Given the description of an element on the screen output the (x, y) to click on. 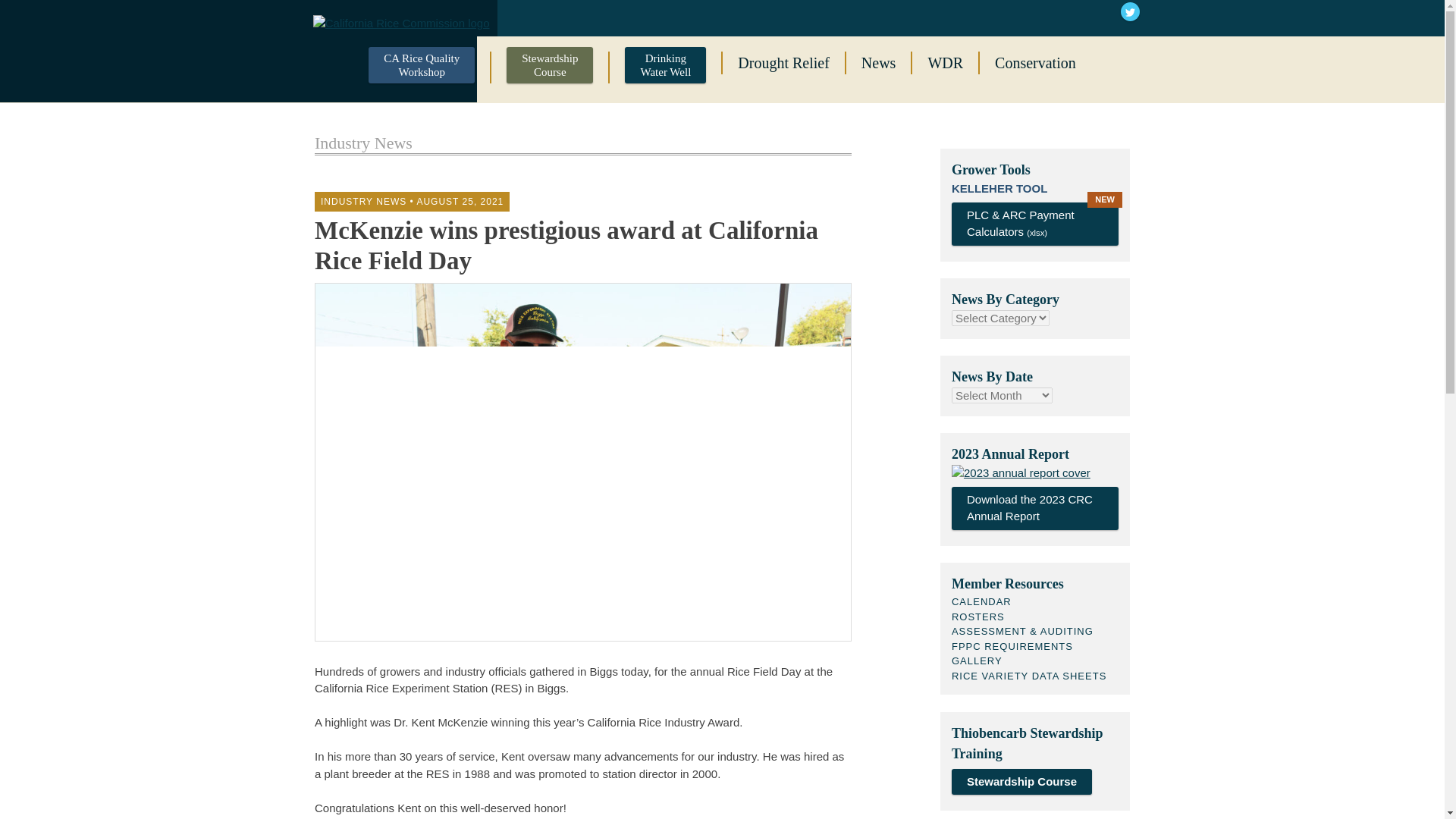
ROSTERS (549, 67)
Drought Relief (978, 616)
Download the 2023 CRC Annual Report (783, 62)
AUGUST 25, 2021 (1035, 507)
WDR (459, 201)
News (945, 62)
FPPC REQUIREMENTS (878, 62)
Conservation (664, 67)
